Given the description of an element on the screen output the (x, y) to click on. 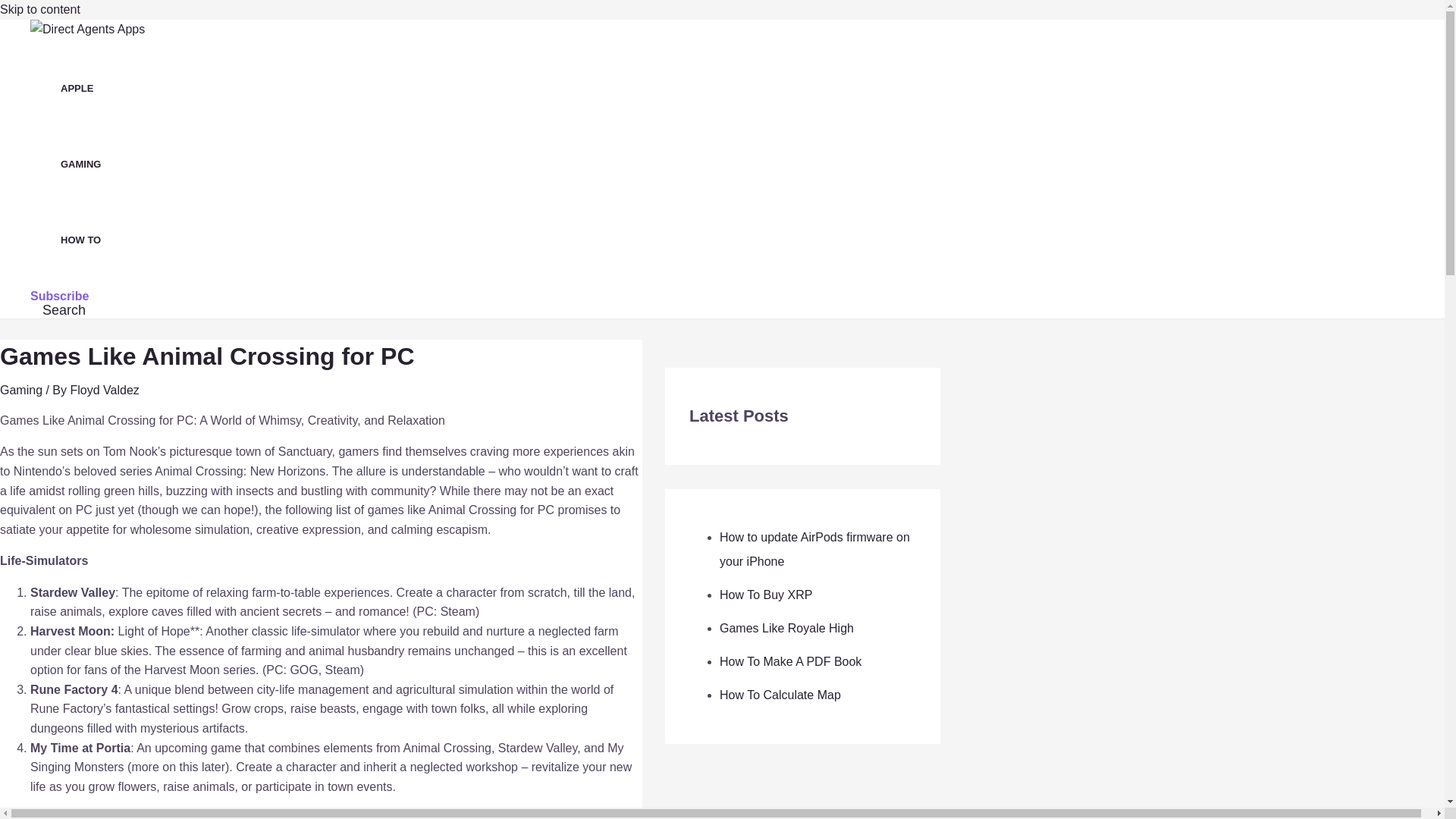
Subscribe (59, 296)
How To Buy XRP (765, 594)
Search (63, 310)
Skip to content (40, 9)
Games Like Royale High (786, 627)
How To Make A PDF Book (790, 661)
How to update AirPods firmware on your iPhone (814, 549)
View all posts by Floyd Valdez (103, 390)
Floyd Valdez (103, 390)
Skip to content (40, 9)
